Given the description of an element on the screen output the (x, y) to click on. 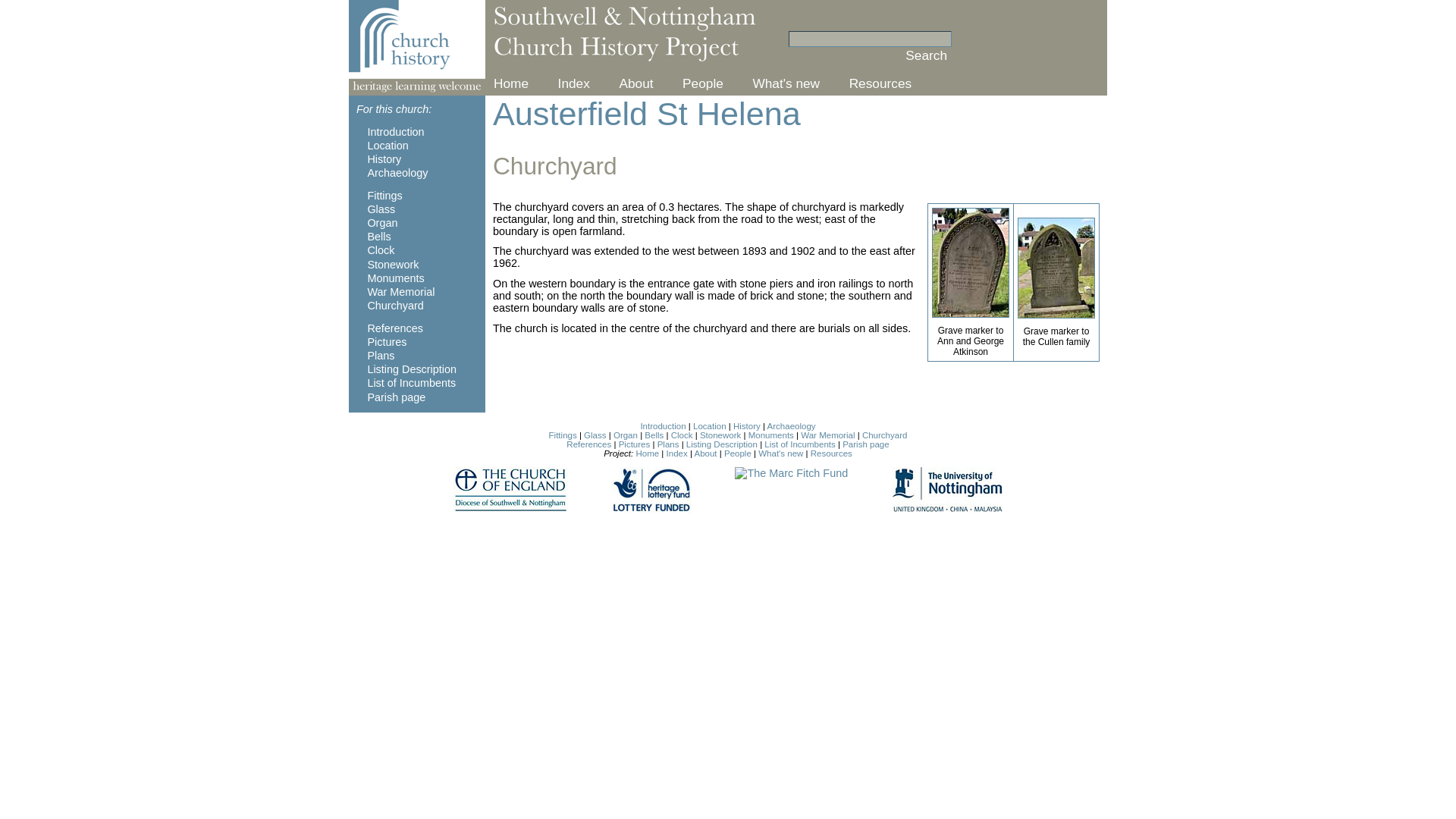
Search (926, 55)
List of Incumbents (410, 382)
Introduction (662, 425)
People (702, 83)
Fittings (383, 195)
War Memorial (399, 291)
Stonework (392, 264)
Glass (594, 434)
Glass (380, 209)
Listing Description (411, 369)
Home (510, 83)
Resources (880, 83)
Introduction (394, 132)
Bells (378, 236)
Location (709, 425)
